Given the description of an element on the screen output the (x, y) to click on. 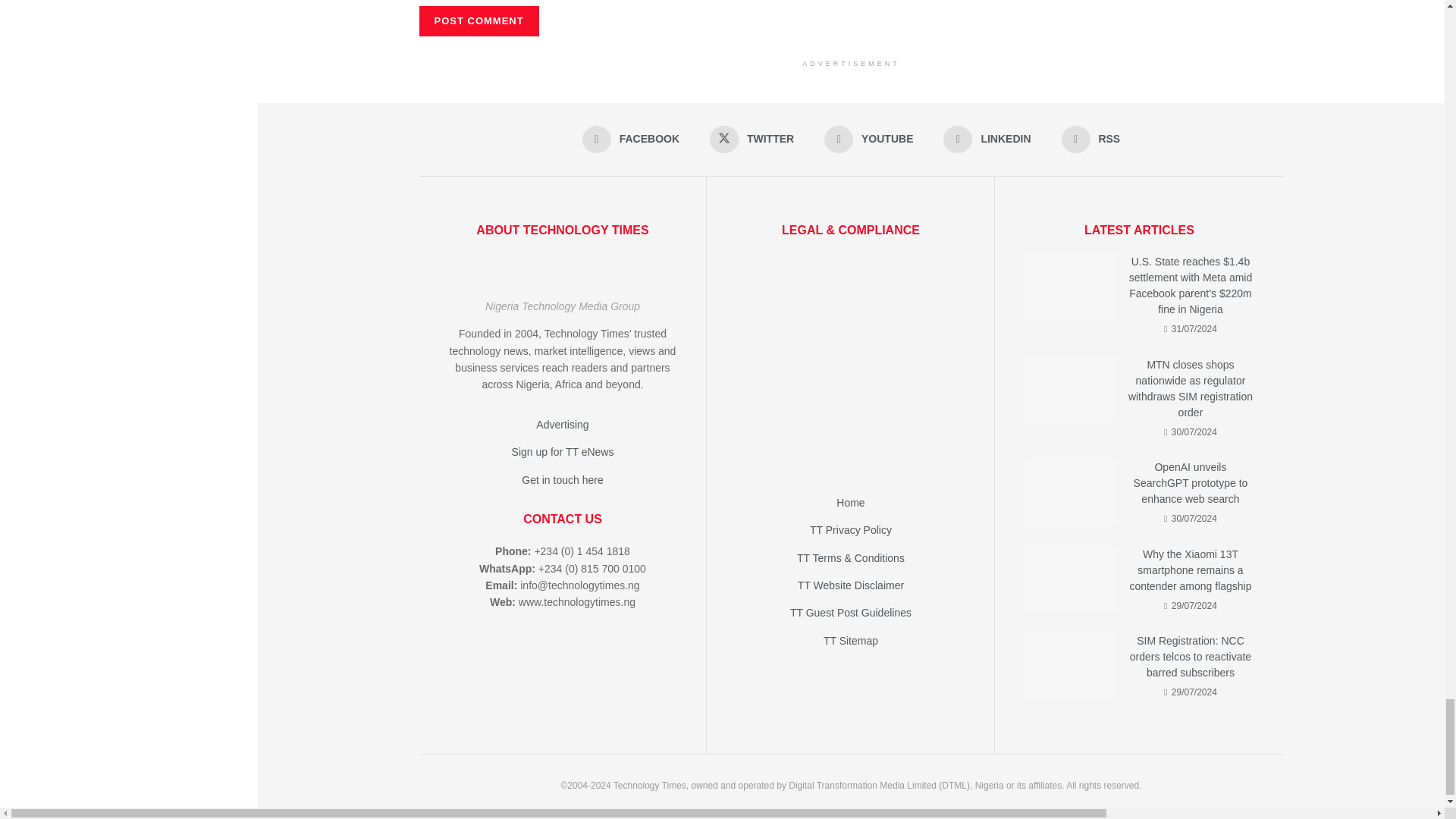
Post Comment (478, 20)
